Given the description of an element on the screen output the (x, y) to click on. 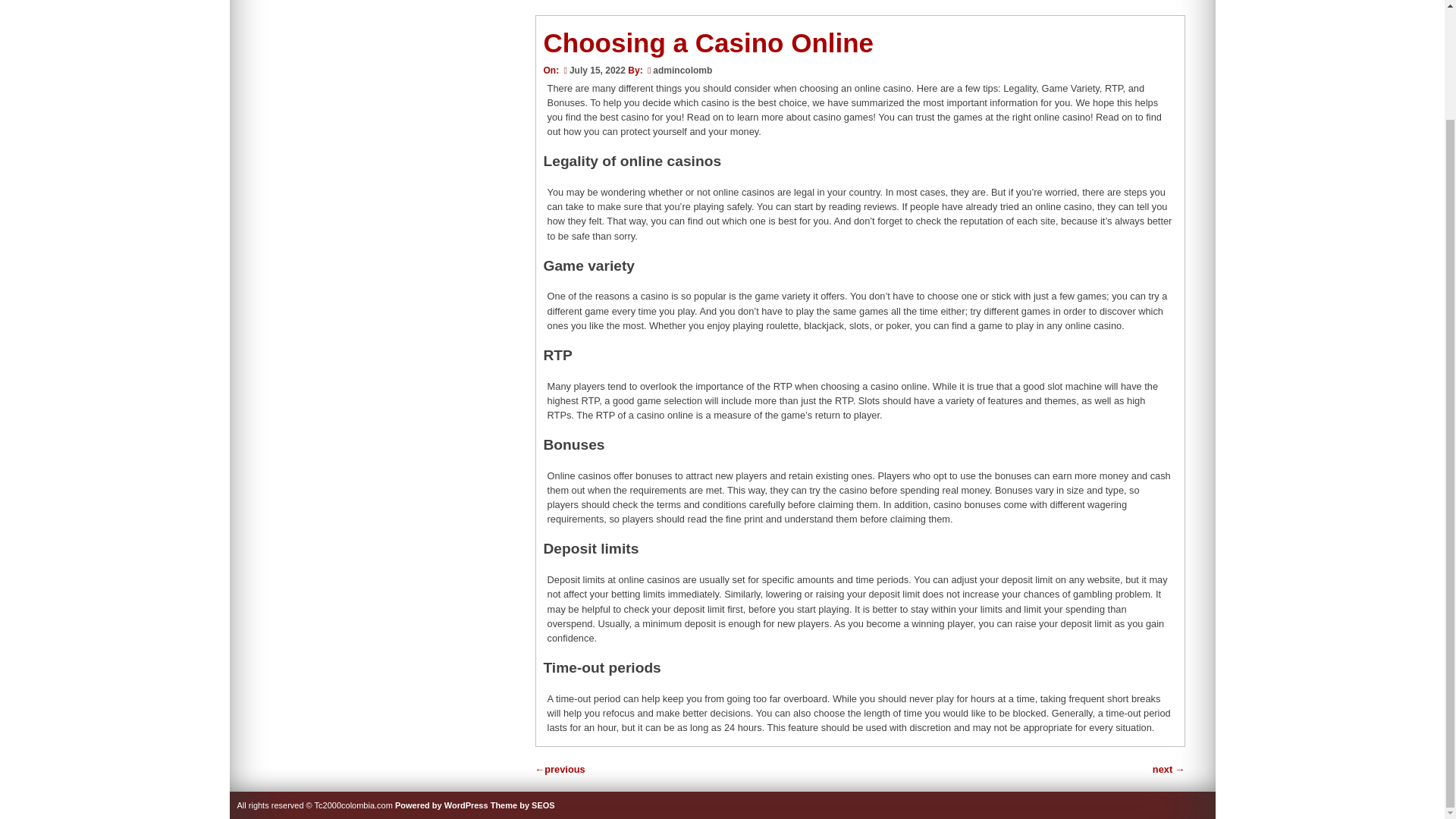
Powered by WordPress (440, 804)
Seos free wordpress themes (522, 804)
admincolomb (681, 70)
Theme by SEOS (522, 804)
July 15, 2022 (592, 70)
